Given the description of an element on the screen output the (x, y) to click on. 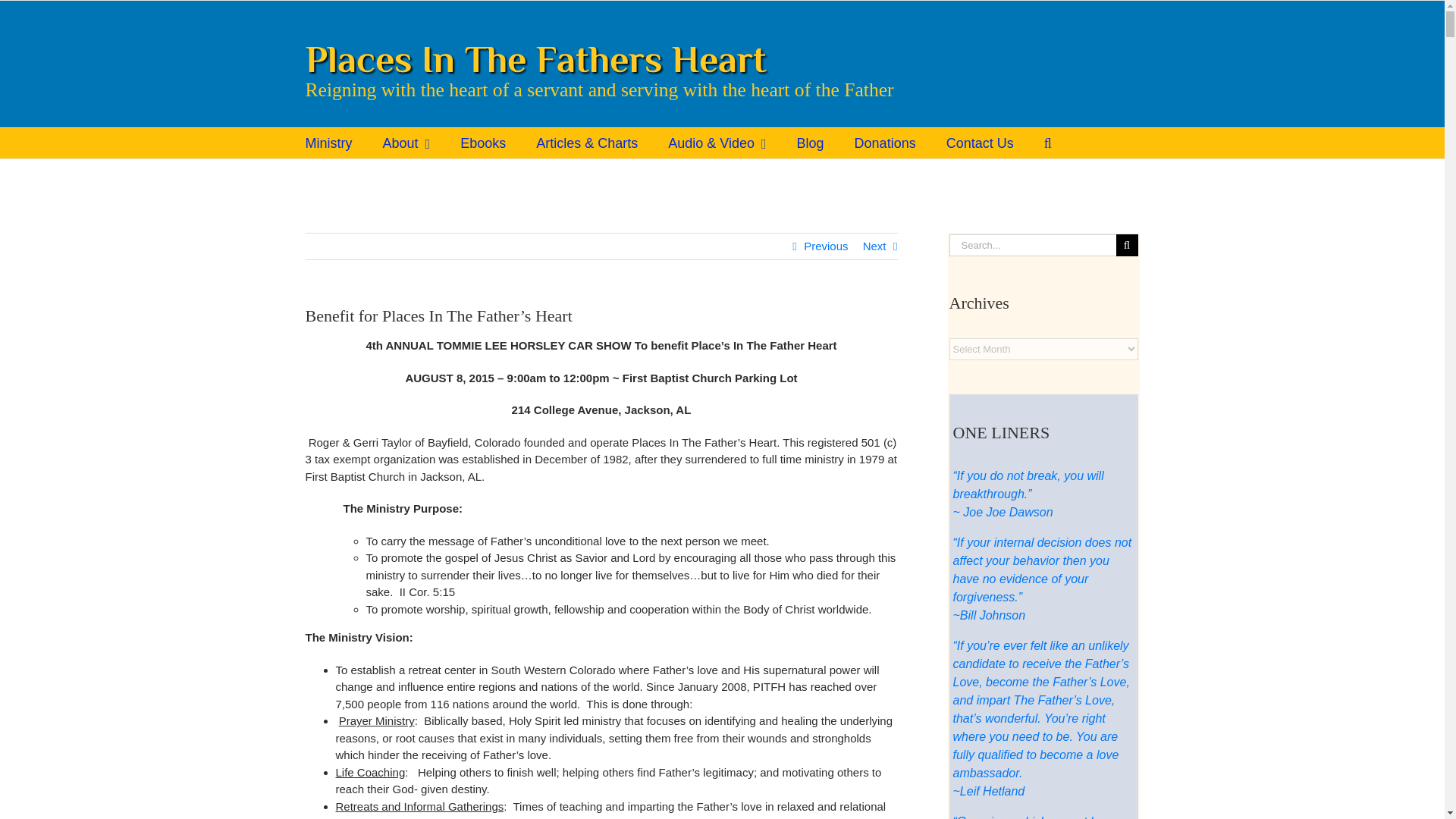
Next (874, 246)
Ministry (328, 142)
Previous (825, 246)
Ebooks (482, 142)
Blog (810, 142)
About (405, 142)
Contact Us (979, 142)
Donations (884, 142)
